Given the description of an element on the screen output the (x, y) to click on. 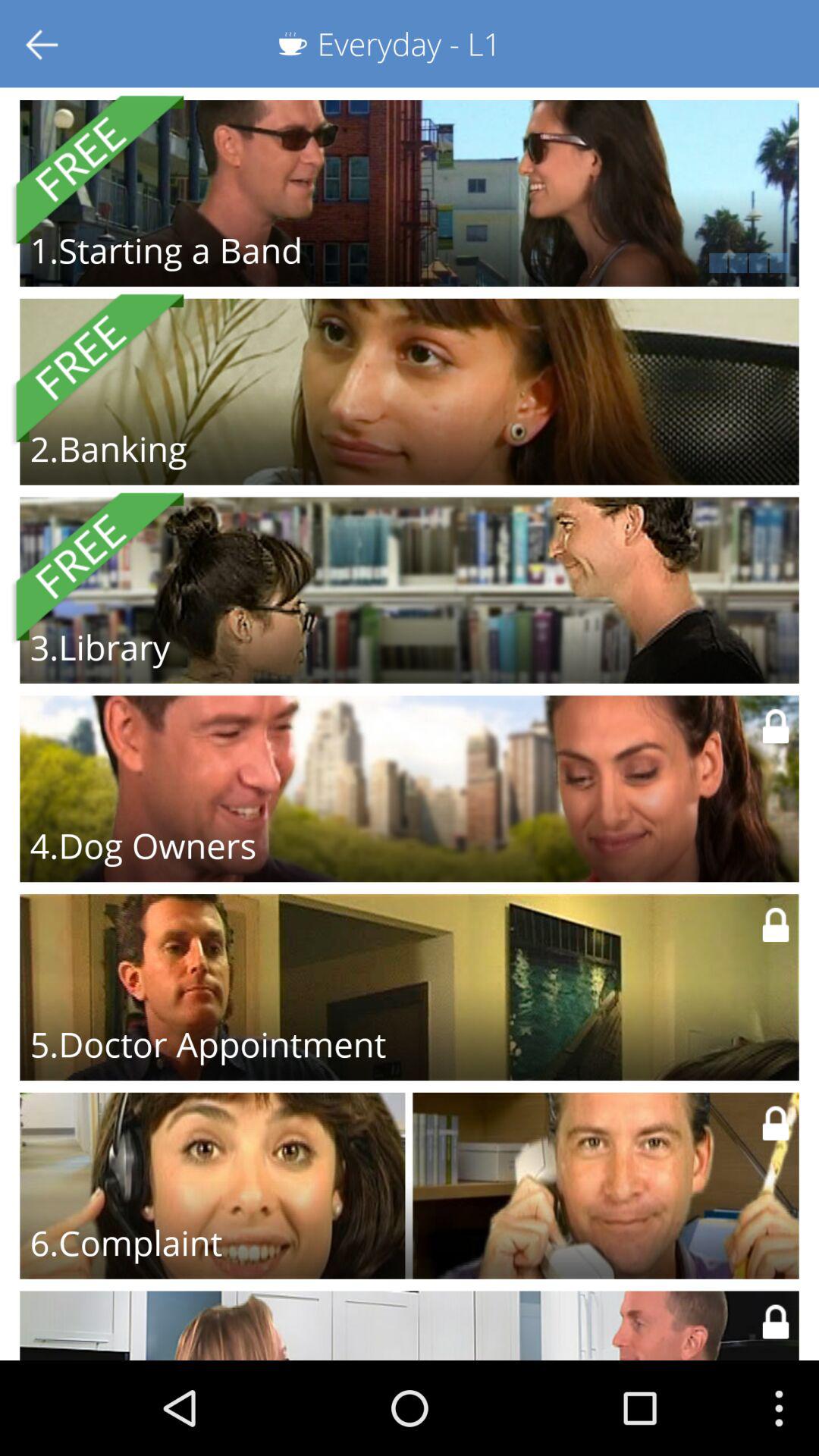
turn on item to the right of the 1 starting a (608, 263)
